Given the description of an element on the screen output the (x, y) to click on. 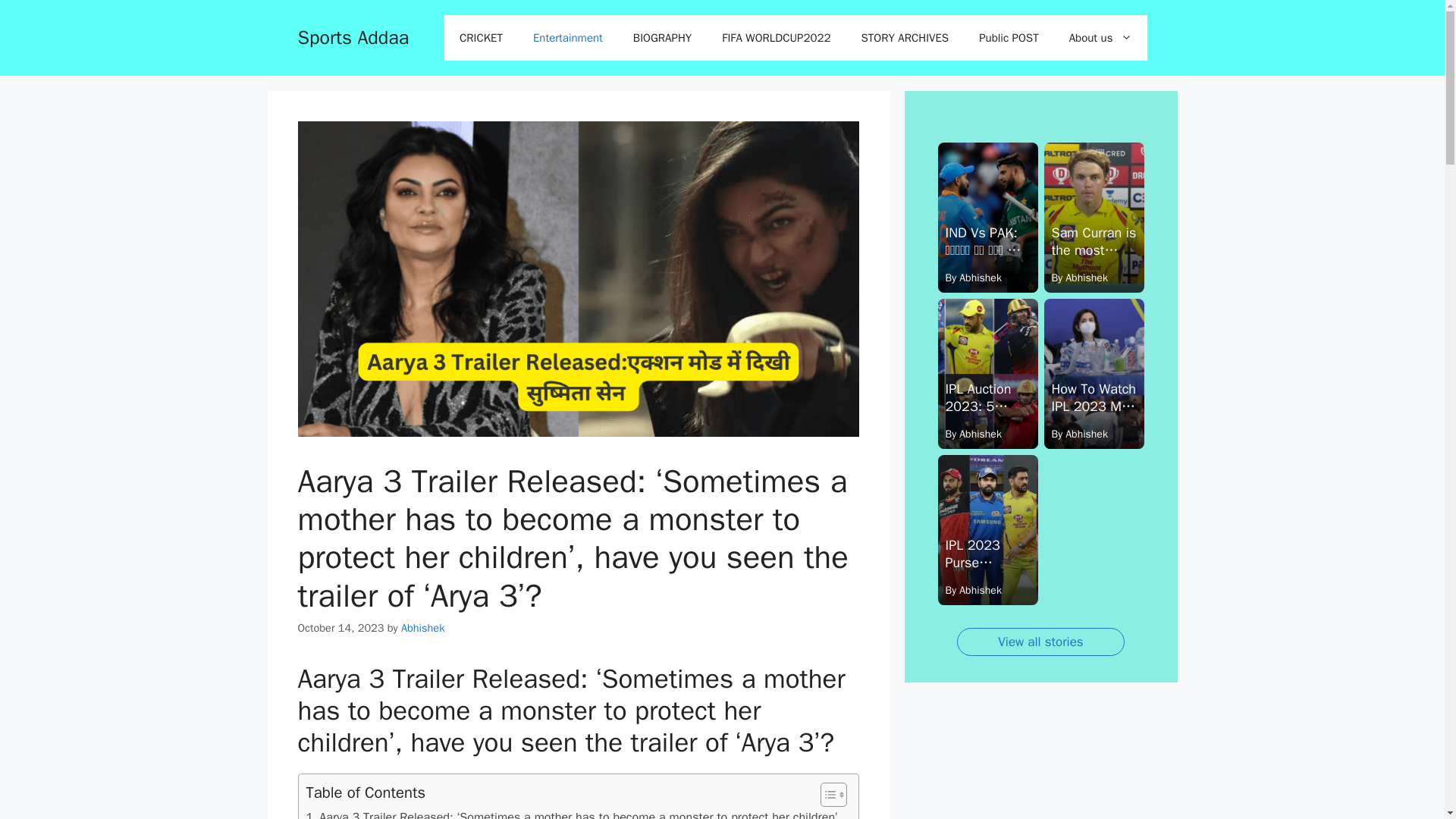
View all stories (1040, 642)
Sports Addaa (353, 37)
Abhishek (422, 627)
BIOGRAPHY (661, 37)
About us (1100, 37)
STORY ARCHIVES (904, 37)
Public POST (1008, 37)
CRICKET (481, 37)
View all posts by Abhishek (422, 627)
Entertainment (567, 37)
